Given the description of an element on the screen output the (x, y) to click on. 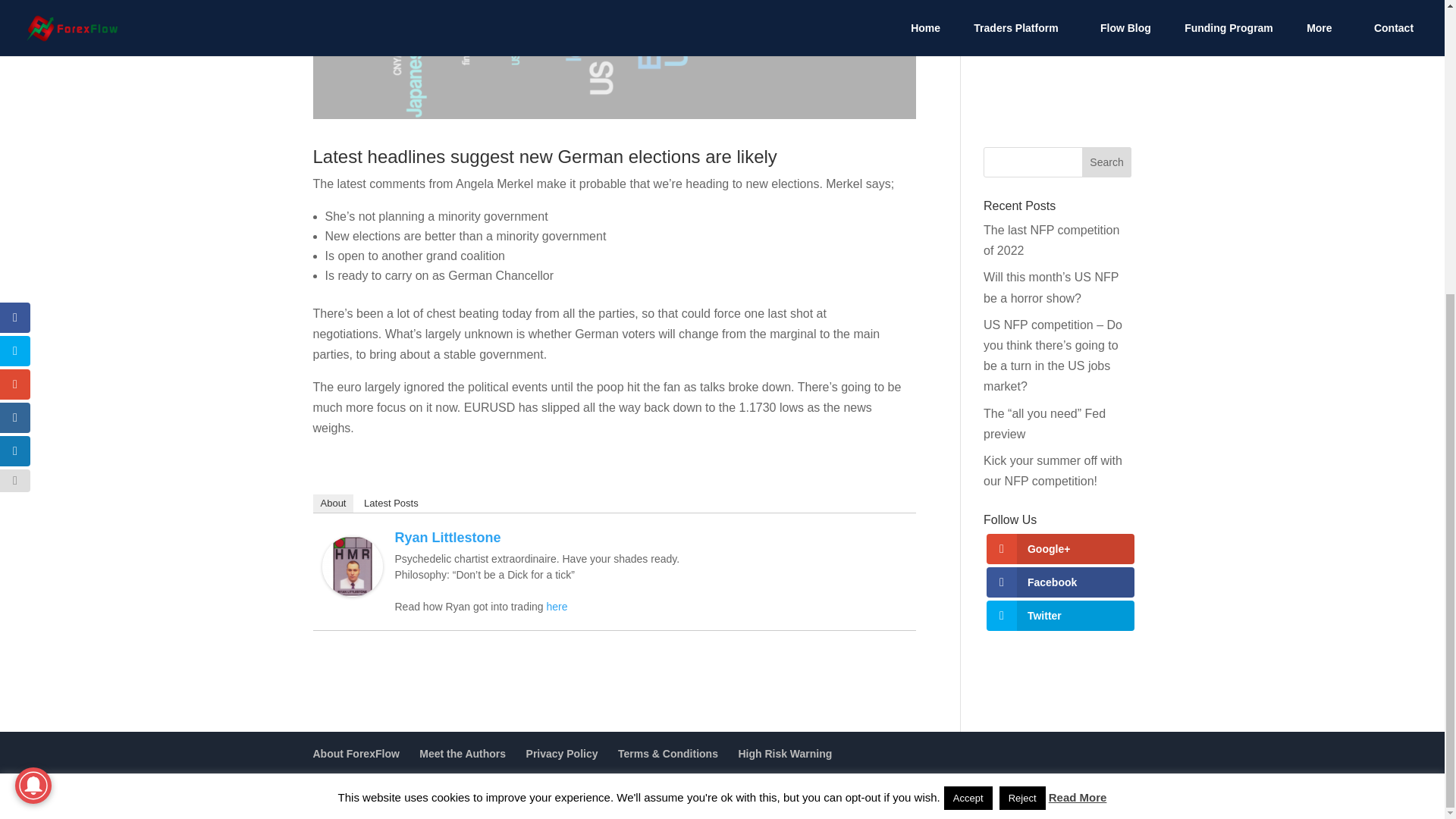
Search (1106, 162)
Advertisement (1057, 62)
About (333, 503)
Ryan Littlestone (351, 585)
